Given the description of an element on the screen output the (x, y) to click on. 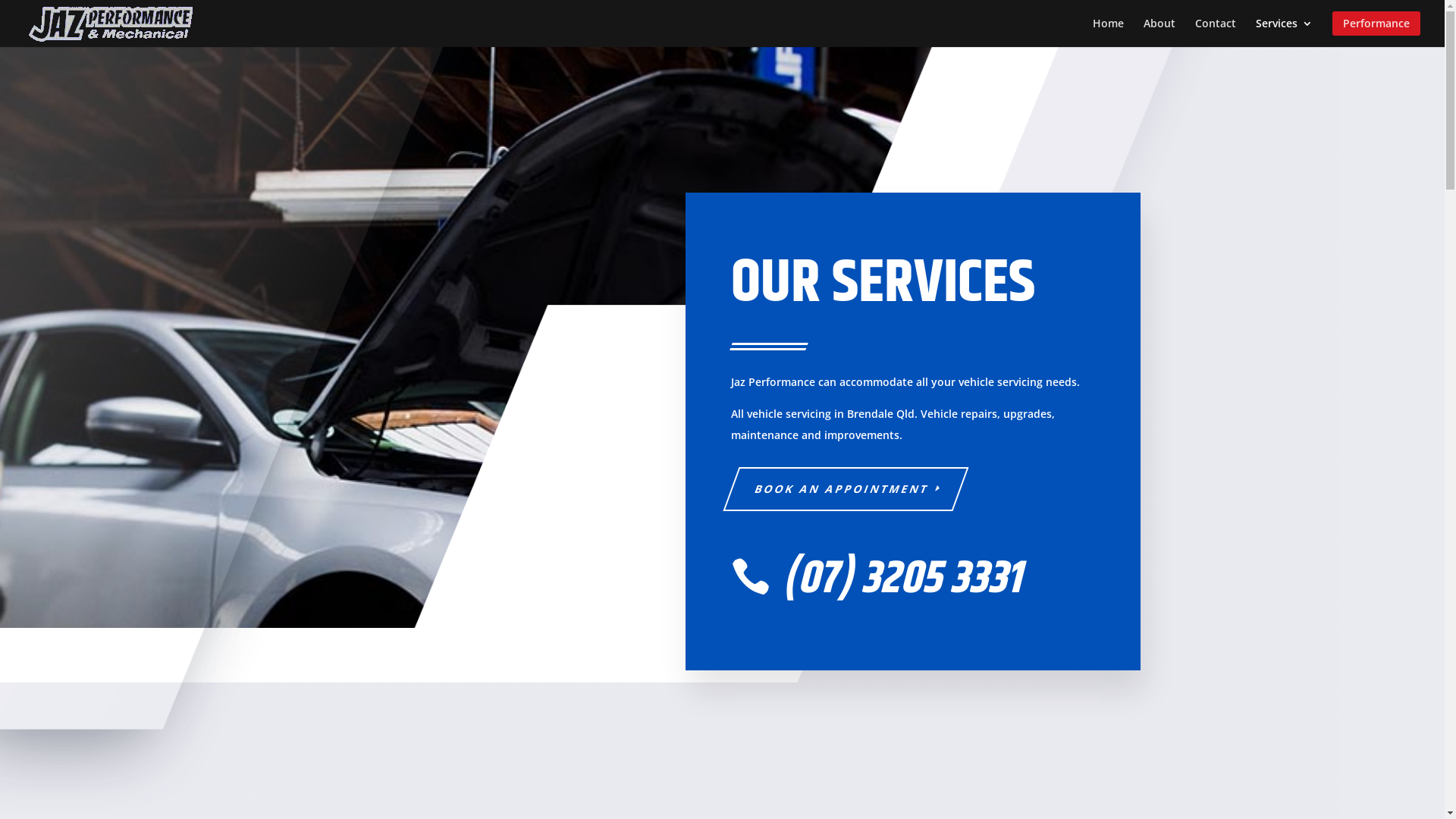
About Element type: text (1159, 29)
Services Element type: text (1283, 29)
(07) 3205 3331 Element type: text (900, 579)
Performance Element type: text (1376, 29)
Home Element type: text (1107, 29)
Contact Element type: text (1215, 29)
BOOK AN APPOINTMENT Element type: text (837, 489)
